Given the description of an element on the screen output the (x, y) to click on. 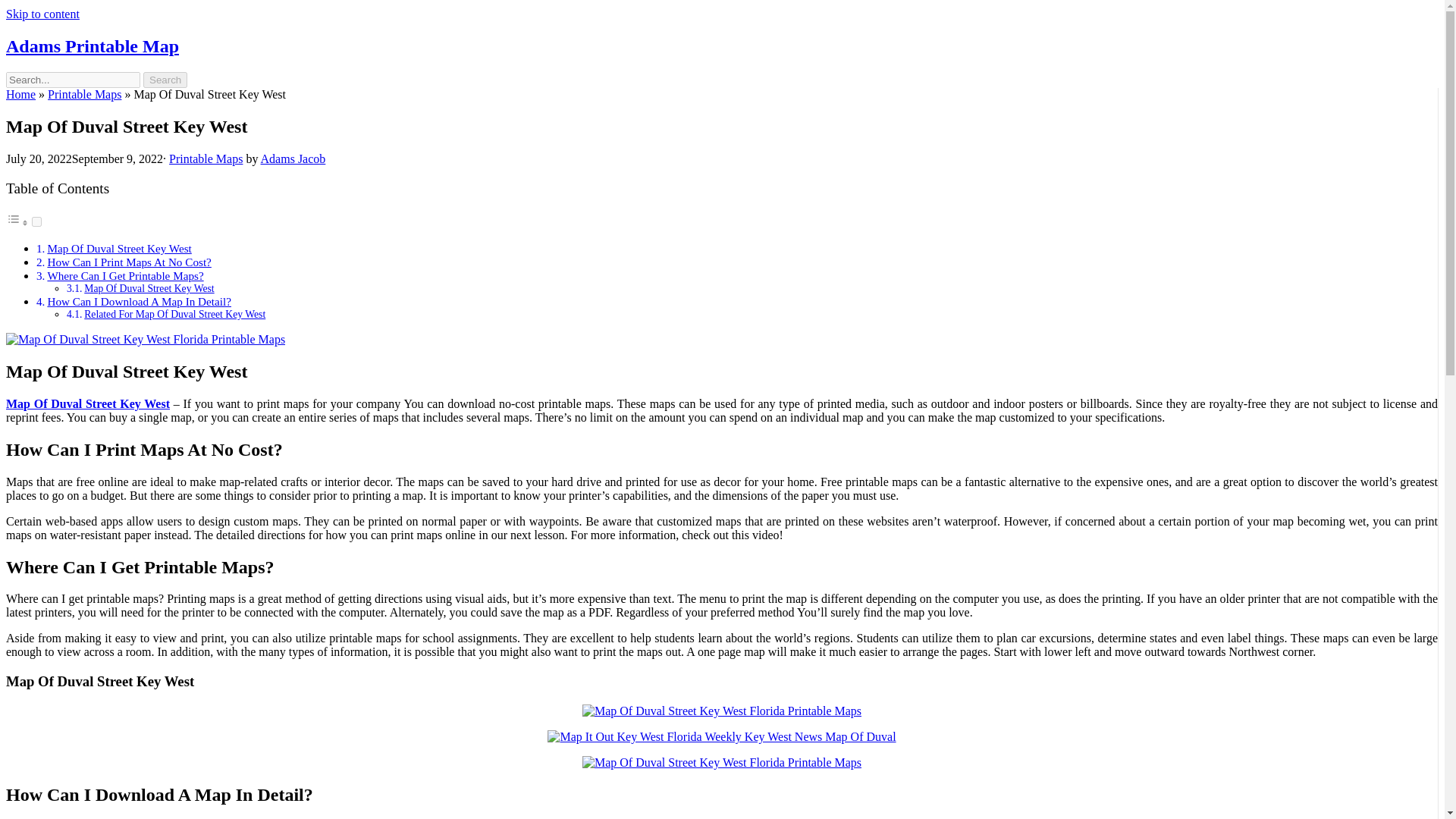
Search for: (72, 79)
How Can I Download A Map In Detail? (138, 300)
Map Of Duval Street Key West (118, 247)
Where Can I Get Printable Maps? (124, 275)
Search (164, 79)
Search (164, 79)
Map Of Duval Street Key West (87, 403)
Search (164, 79)
How Can I Print Maps At No Cost? (128, 261)
Adams Jacob (293, 158)
map of duval street key west florida printable maps 4 (145, 339)
Related For Map Of Duval Street Key West (174, 314)
Map Of Duval Street Key West (118, 247)
How Can I Download A Map In Detail? (138, 300)
